Given the description of an element on the screen output the (x, y) to click on. 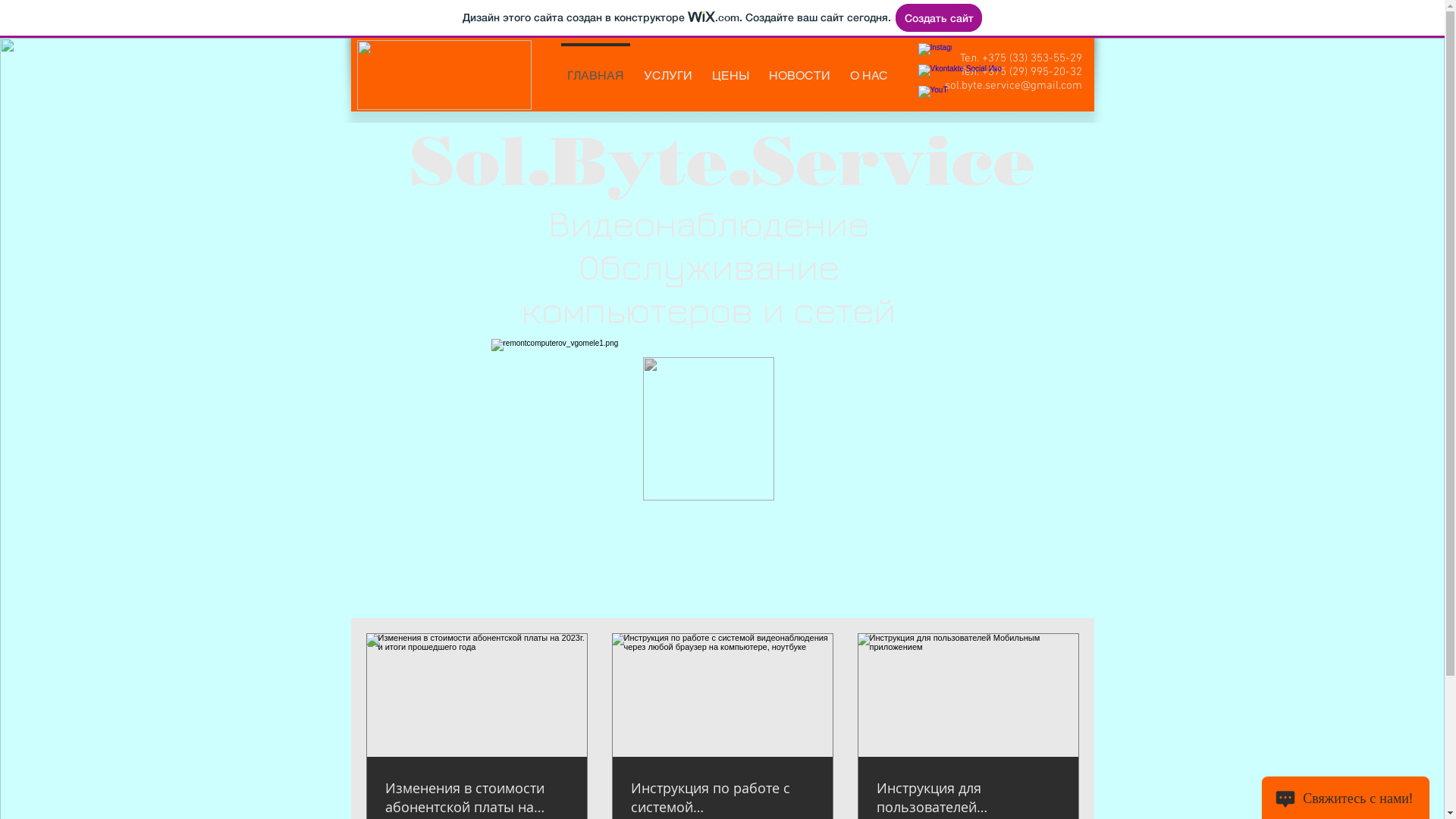
sol.byte.service@gmail.com Element type: text (1013, 85)
